Given the description of an element on the screen output the (x, y) to click on. 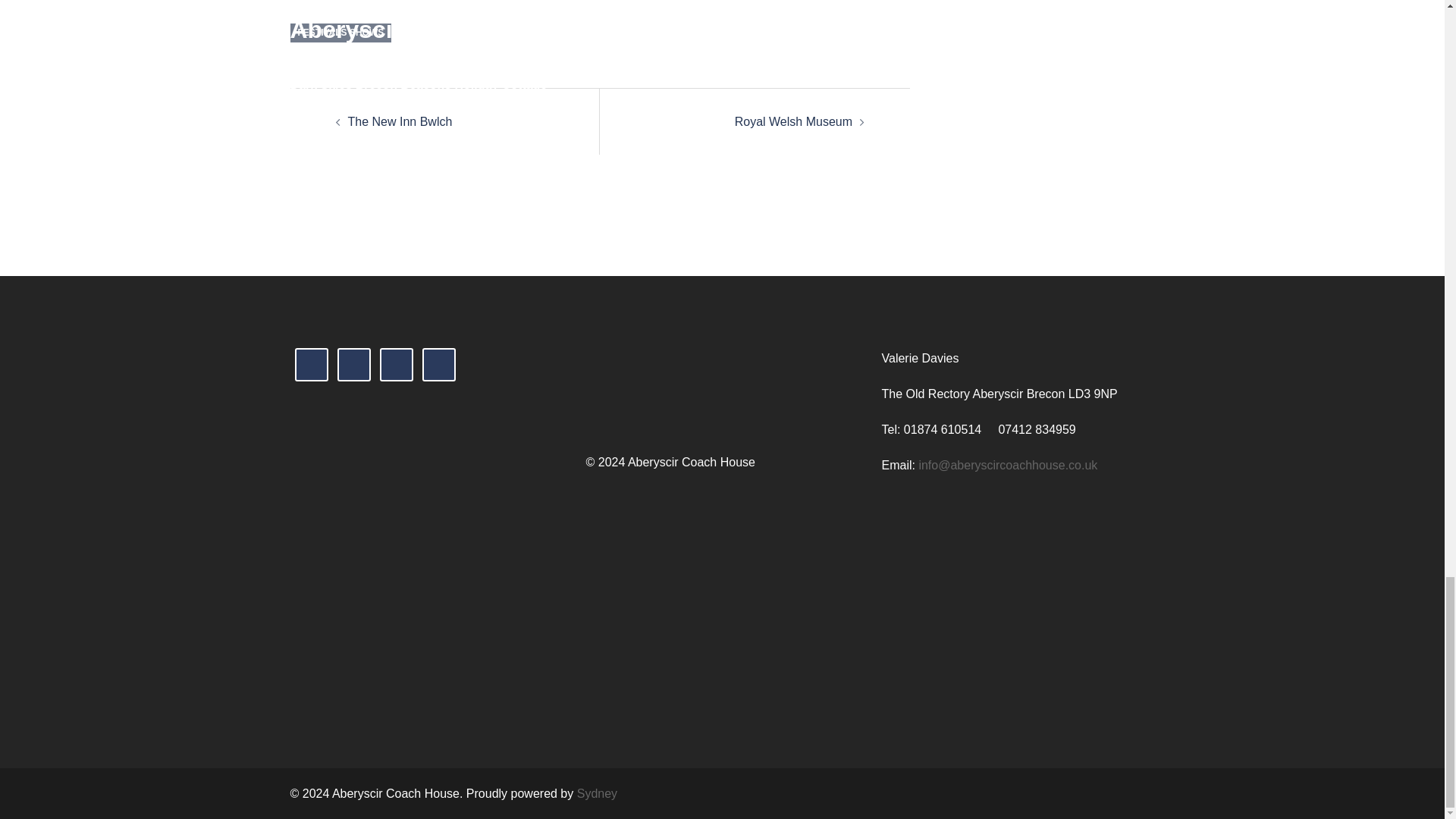
Sydney (596, 793)
The New Inn Bwlch (399, 121)
Royal Welsh Museum (793, 121)
FESTIVALS SHOWS (340, 32)
